Given the description of an element on the screen output the (x, y) to click on. 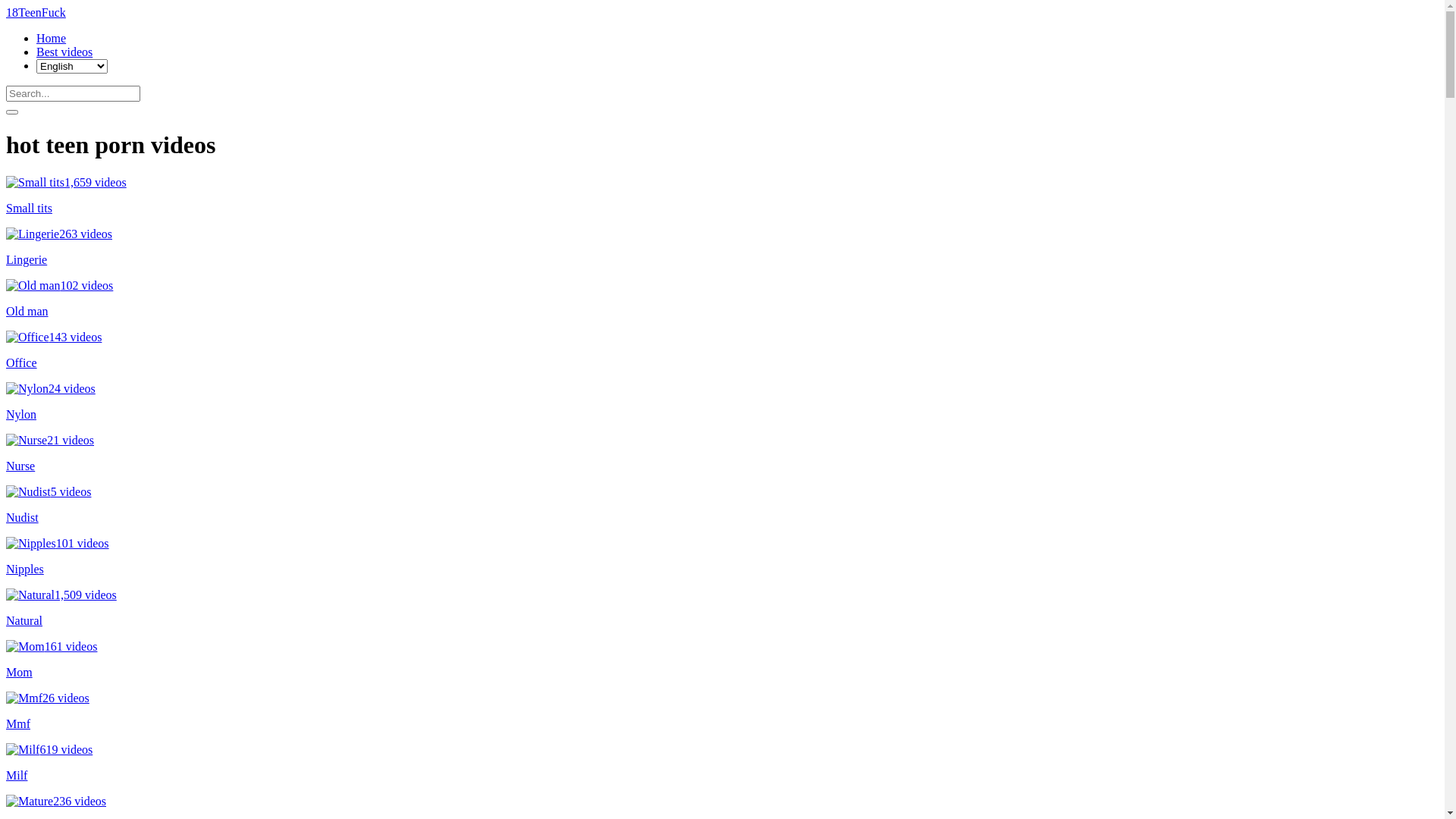
143 videos
Office Element type: text (722, 350)
161 videos
Mom Element type: text (722, 659)
1,509 videos
Natural Element type: text (722, 607)
21 videos
Nurse Element type: text (722, 453)
1,659 videos
Small tits Element type: text (722, 195)
18TeenFuck Element type: text (35, 12)
26 videos
Mmf Element type: text (722, 711)
24 videos
Nylon Element type: text (722, 401)
619 videos
Milf Element type: text (722, 762)
Home Element type: text (50, 37)
5 videos
Nudist Element type: text (722, 504)
101 videos
Nipples Element type: text (722, 556)
263 videos
Lingerie Element type: text (722, 246)
Best videos Element type: text (64, 51)
102 videos
Old man Element type: text (722, 298)
